Given the description of an element on the screen output the (x, y) to click on. 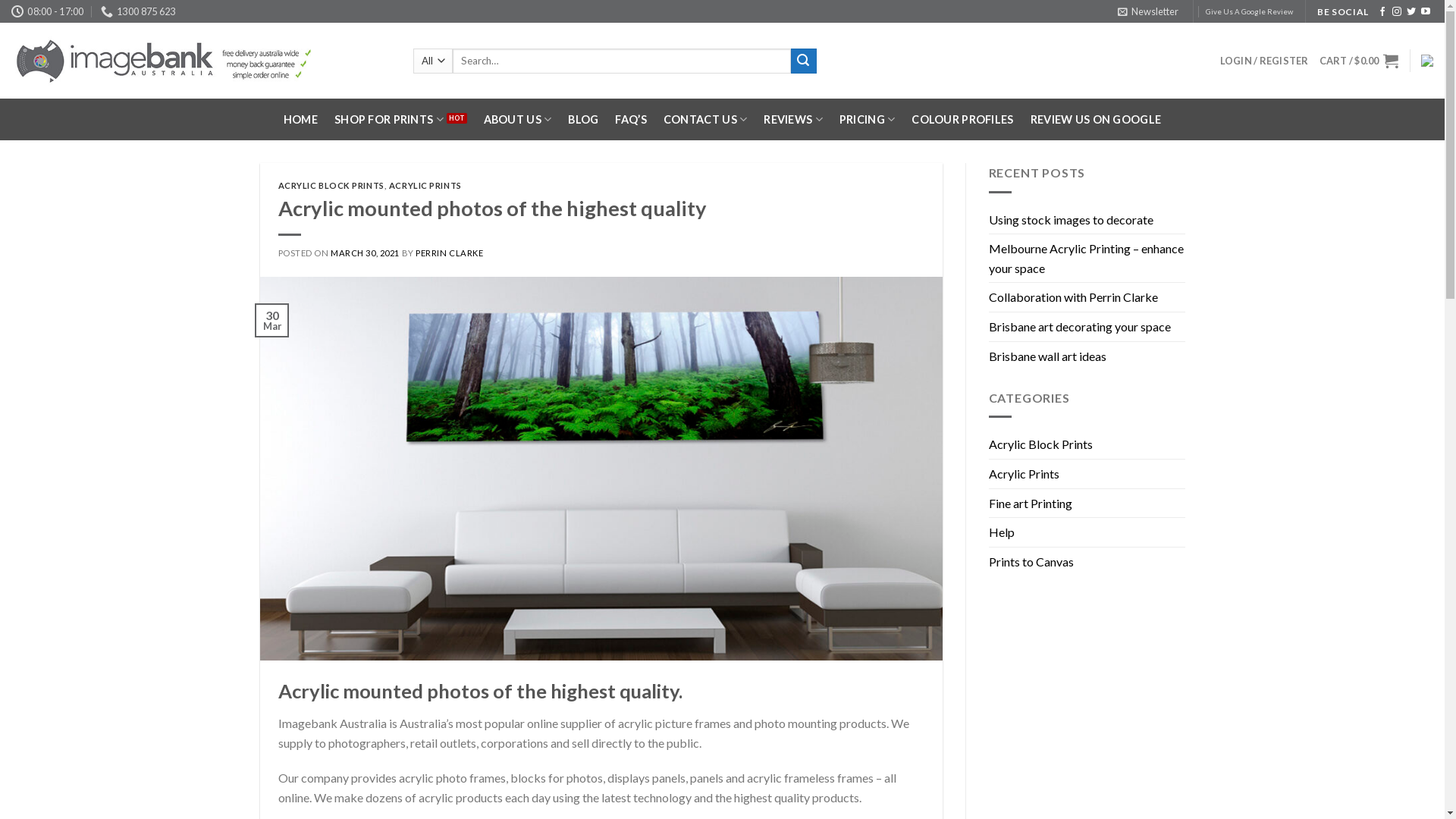
LOGIN / REGISTER Element type: text (1264, 60)
Acrylic Block Prints Element type: text (1040, 443)
Give Us A Google Review Element type: text (1248, 11)
CART / $0.00 Element type: text (1358, 60)
Follow on YouTube Element type: hover (1425, 11)
Collaboration with Perrin Clarke Element type: text (1072, 296)
PRICING Element type: text (867, 119)
Help Element type: text (1001, 531)
Newsletter Element type: text (1147, 11)
Fine art Printing Element type: text (1030, 502)
CONTACT US Element type: text (704, 119)
BLOG Element type: text (582, 119)
Brisbane art decorating your space Element type: text (1079, 326)
COLOUR PROFILES Element type: text (962, 119)
Follow on Instagram Element type: hover (1396, 11)
HOME Element type: text (300, 119)
Skip to content Element type: text (0, 0)
SHOP FOR PRINTS Element type: text (400, 119)
Prints to Canvas Element type: text (1030, 561)
Acrylic Prints Element type: text (1023, 473)
ABOUT US Element type: text (517, 119)
ACRYLIC BLOCK PRINTS Element type: text (330, 185)
Brisbane wall art ideas Element type: text (1047, 356)
REVIEWS Element type: text (792, 119)
ACRYLIC PRINTS Element type: text (425, 185)
Follow on Facebook Element type: hover (1381, 11)
Using stock images to decorate Element type: text (1070, 219)
1300 875 623 Element type: text (137, 11)
MARCH 30, 2021 Element type: text (364, 252)
PERRIN CLARKE Element type: text (449, 252)
REVIEW US ON GOOGLE Element type: text (1095, 119)
Follow on Twitter Element type: hover (1410, 11)
Search Element type: text (803, 61)
08:00 - 17:00 Element type: text (47, 11)
